Given the description of an element on the screen output the (x, y) to click on. 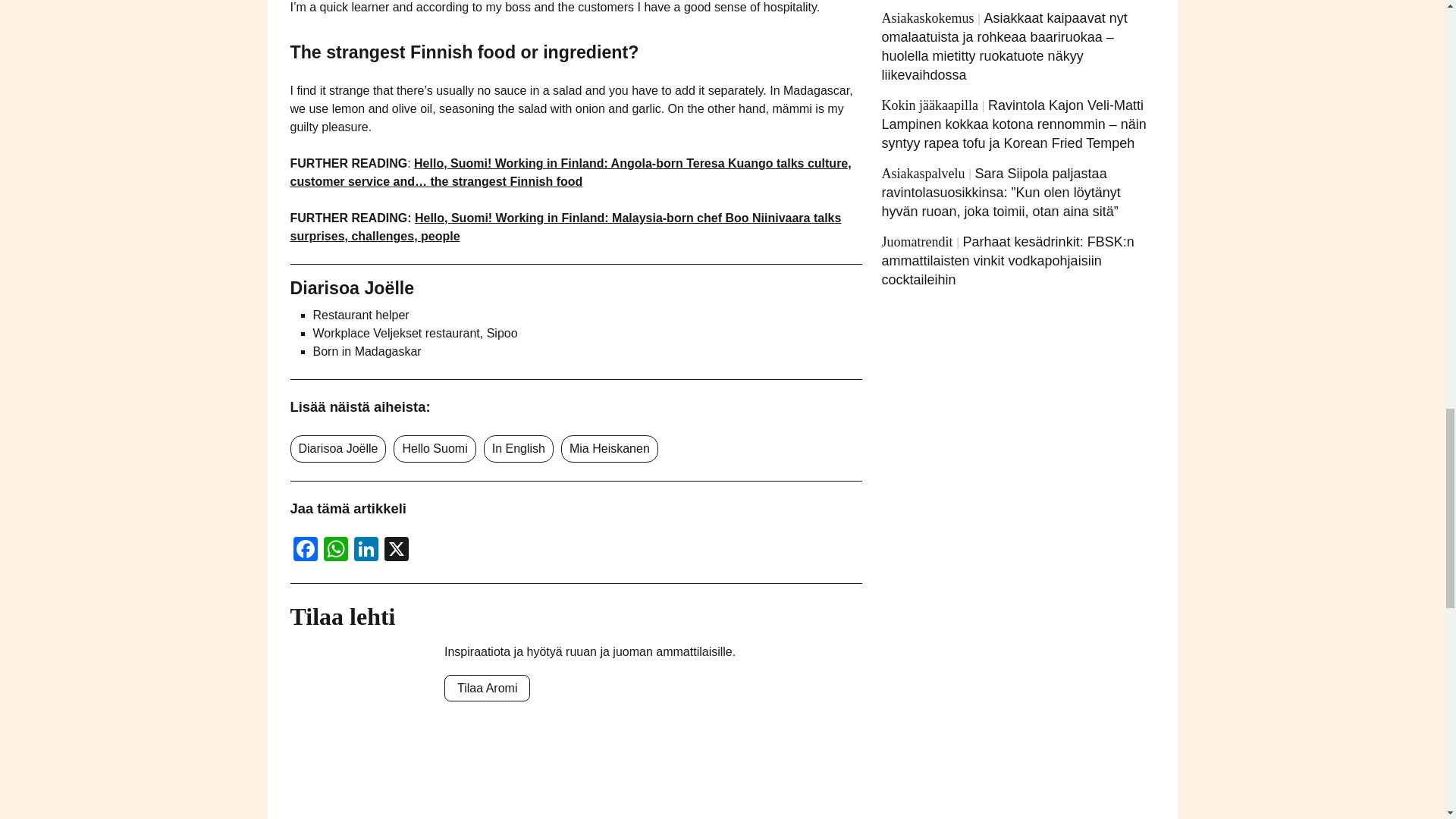
Facebook (304, 551)
X (395, 551)
WhatsApp (335, 551)
LinkedIn (365, 551)
